Given the description of an element on the screen output the (x, y) to click on. 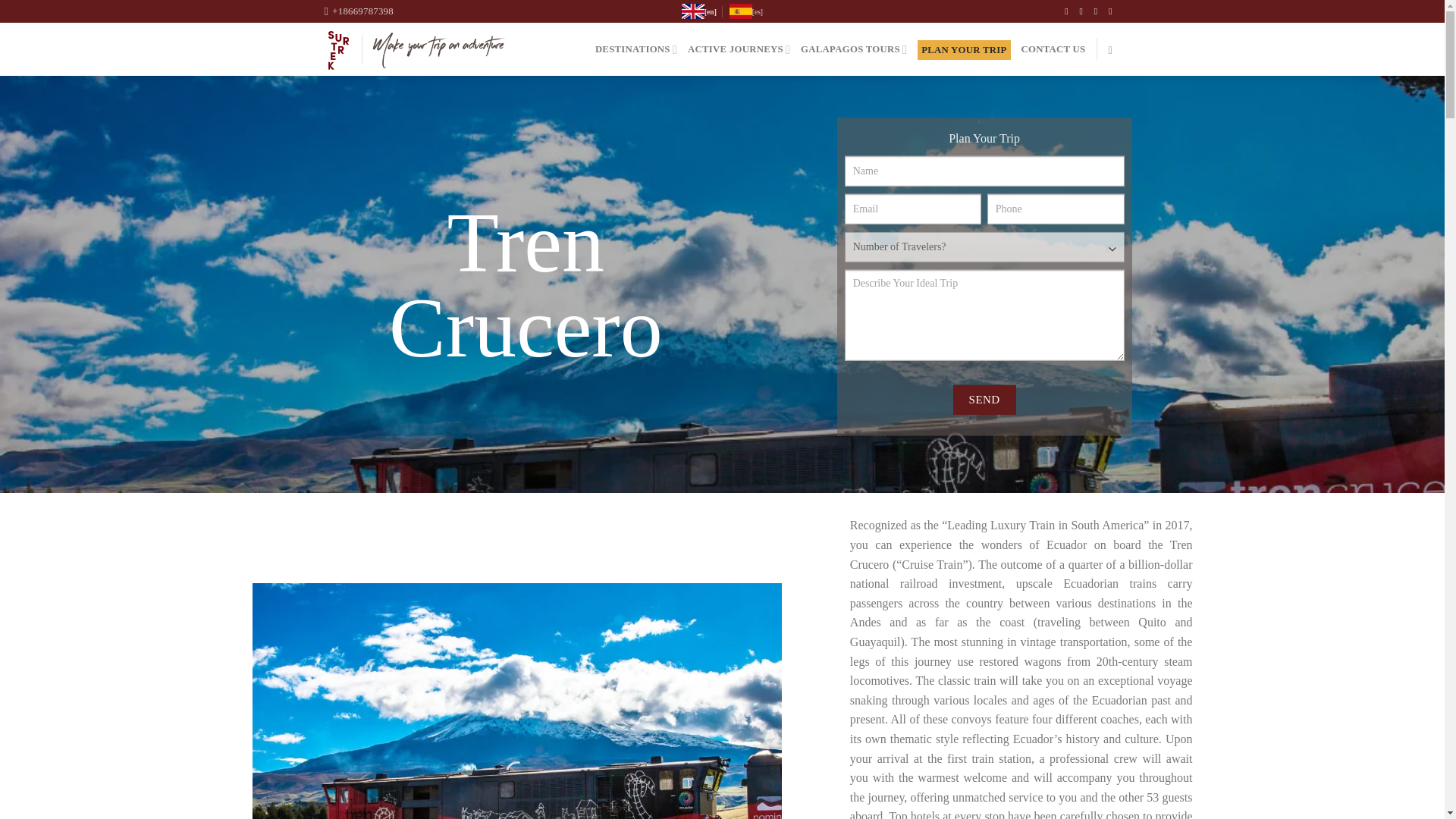
ACTIVE JOURNEYS (738, 49)
DESTINATIONS (636, 49)
Surtrek - Make Your Trip An Adventure (415, 49)
